Given the description of an element on the screen output the (x, y) to click on. 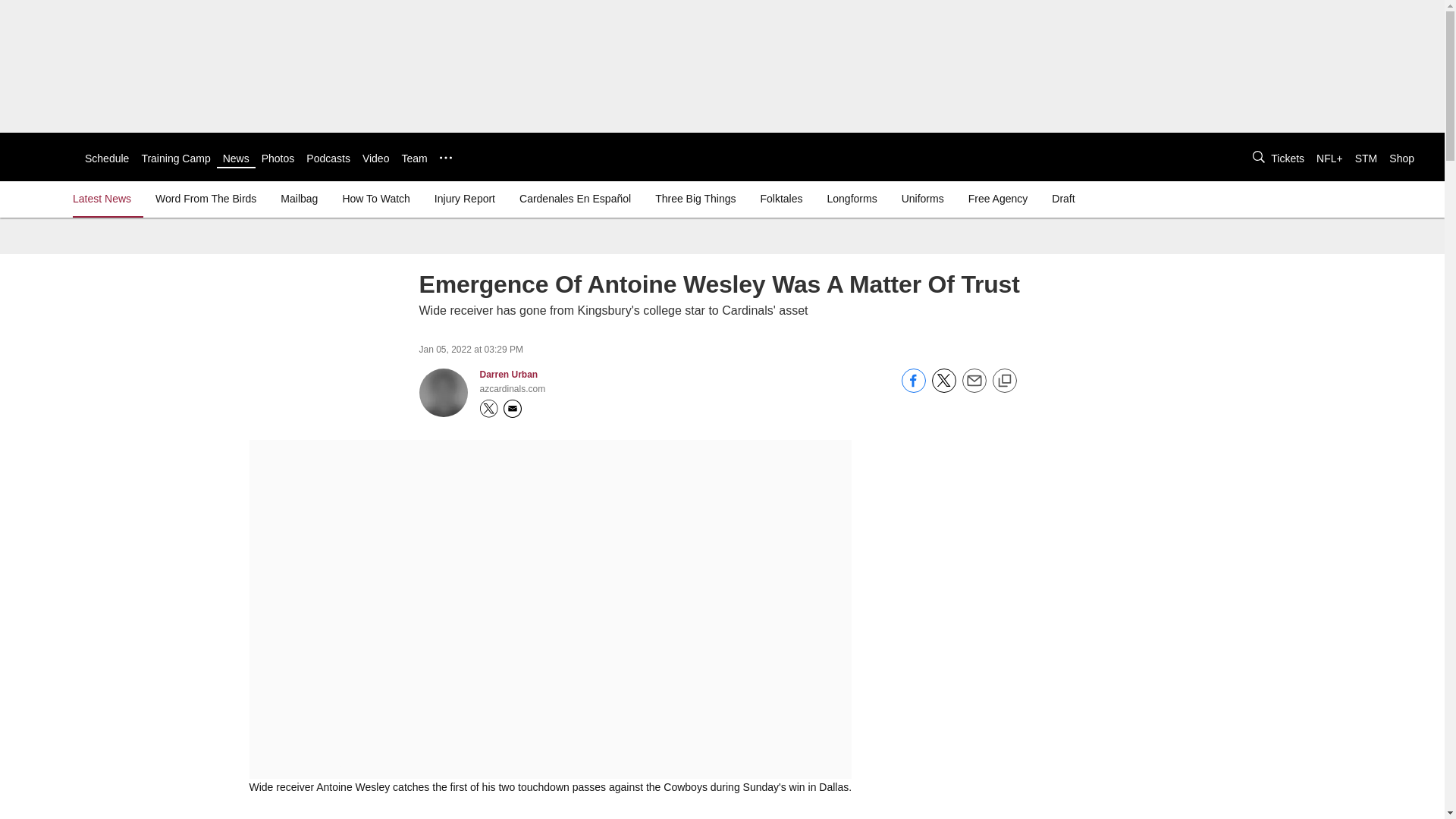
Team (413, 158)
Mailbag (299, 198)
News (235, 158)
Team (413, 158)
Folktales (781, 198)
Uniforms (922, 198)
Schedule (106, 158)
... (445, 157)
Longforms (852, 198)
Training Camp (175, 158)
Latest News (104, 198)
Injury Report (464, 198)
Podcasts (327, 158)
Podcasts (327, 158)
News (235, 158)
